Given the description of an element on the screen output the (x, y) to click on. 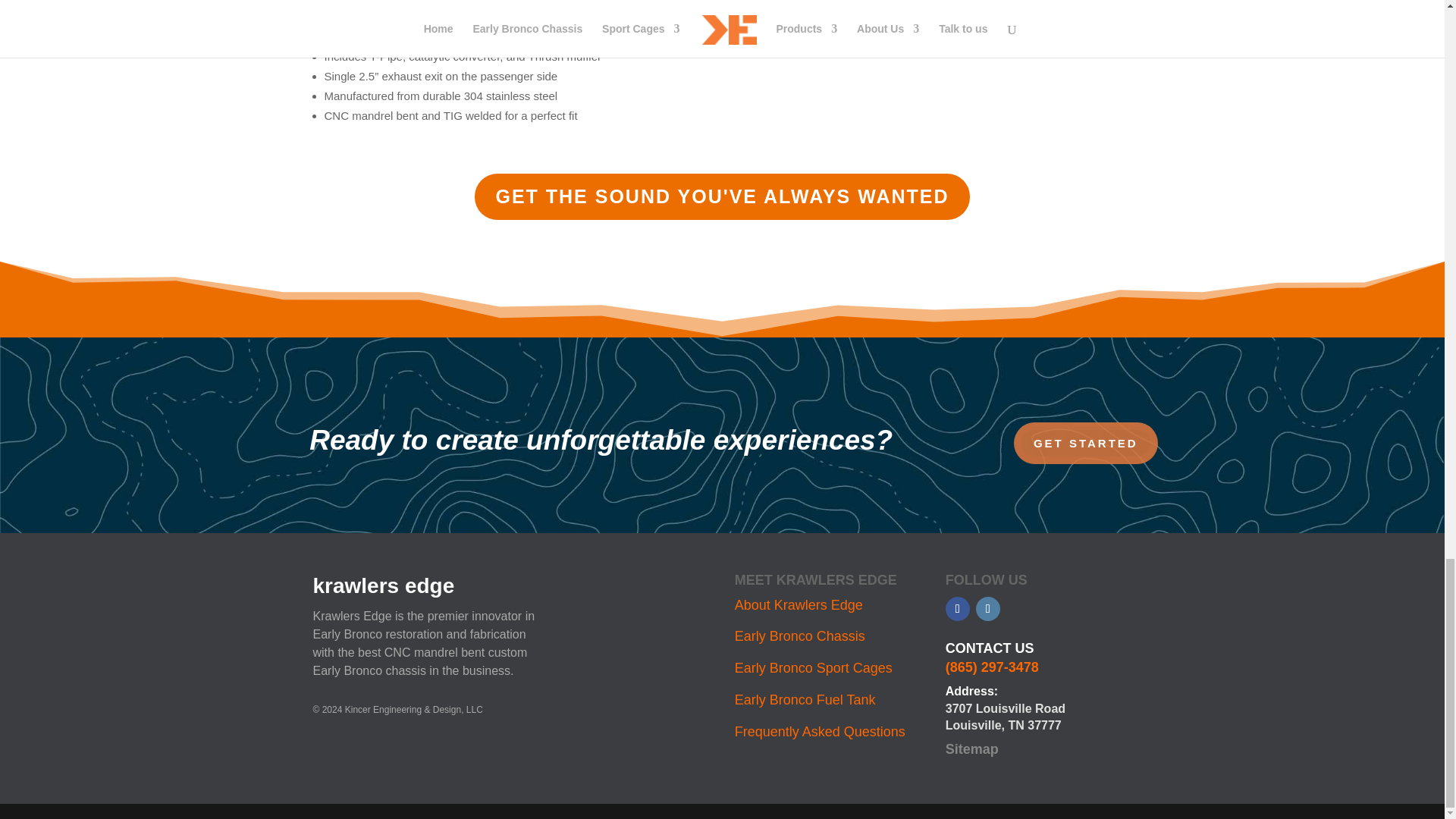
Follow on Facebook (956, 608)
Follow on Instagram (987, 608)
